Given the description of an element on the screen output the (x, y) to click on. 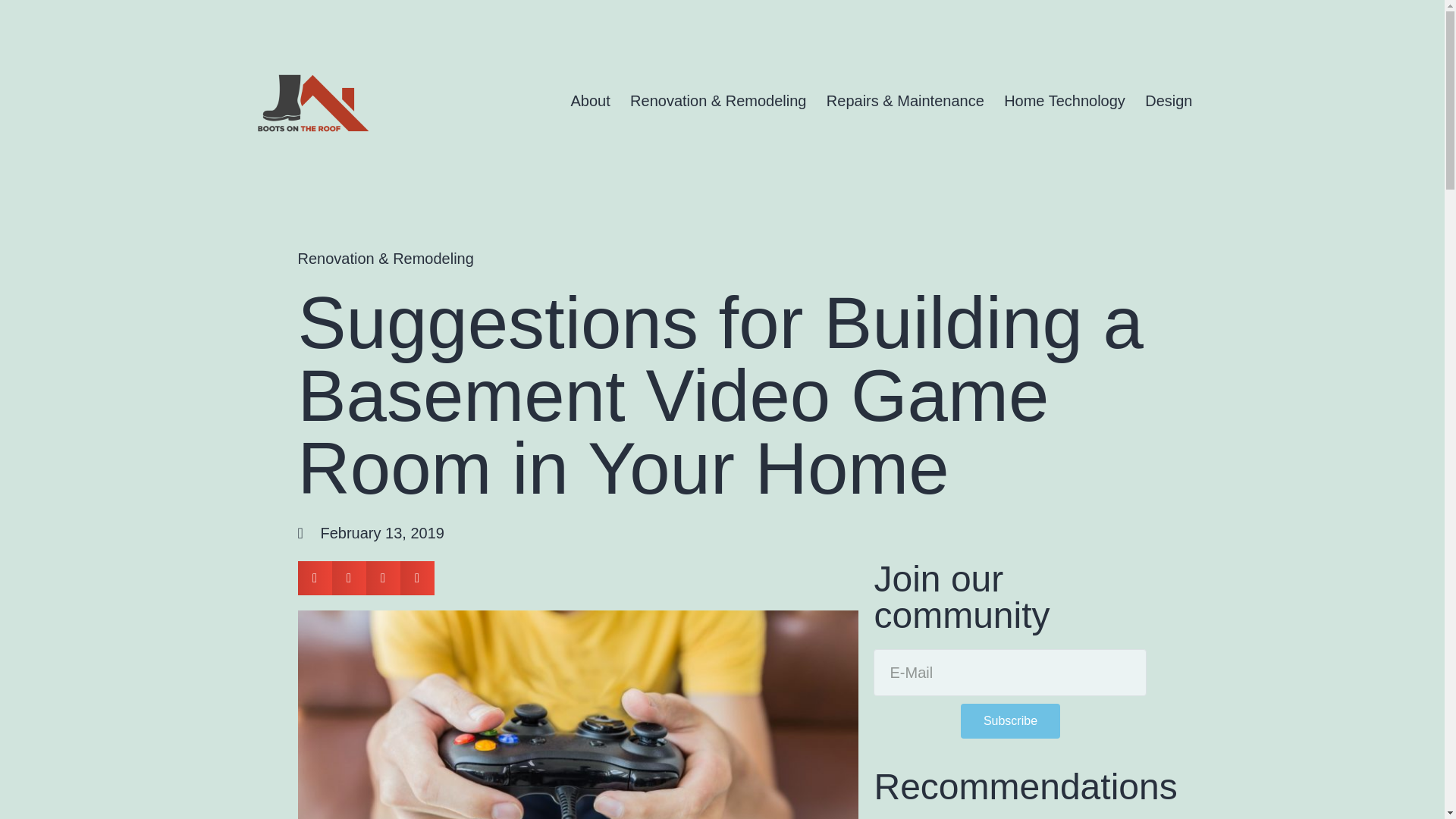
Home Technology (1064, 99)
Subscribe (1009, 720)
About (590, 99)
February 13, 2019 (370, 533)
Design (1168, 99)
